Given the description of an element on the screen output the (x, y) to click on. 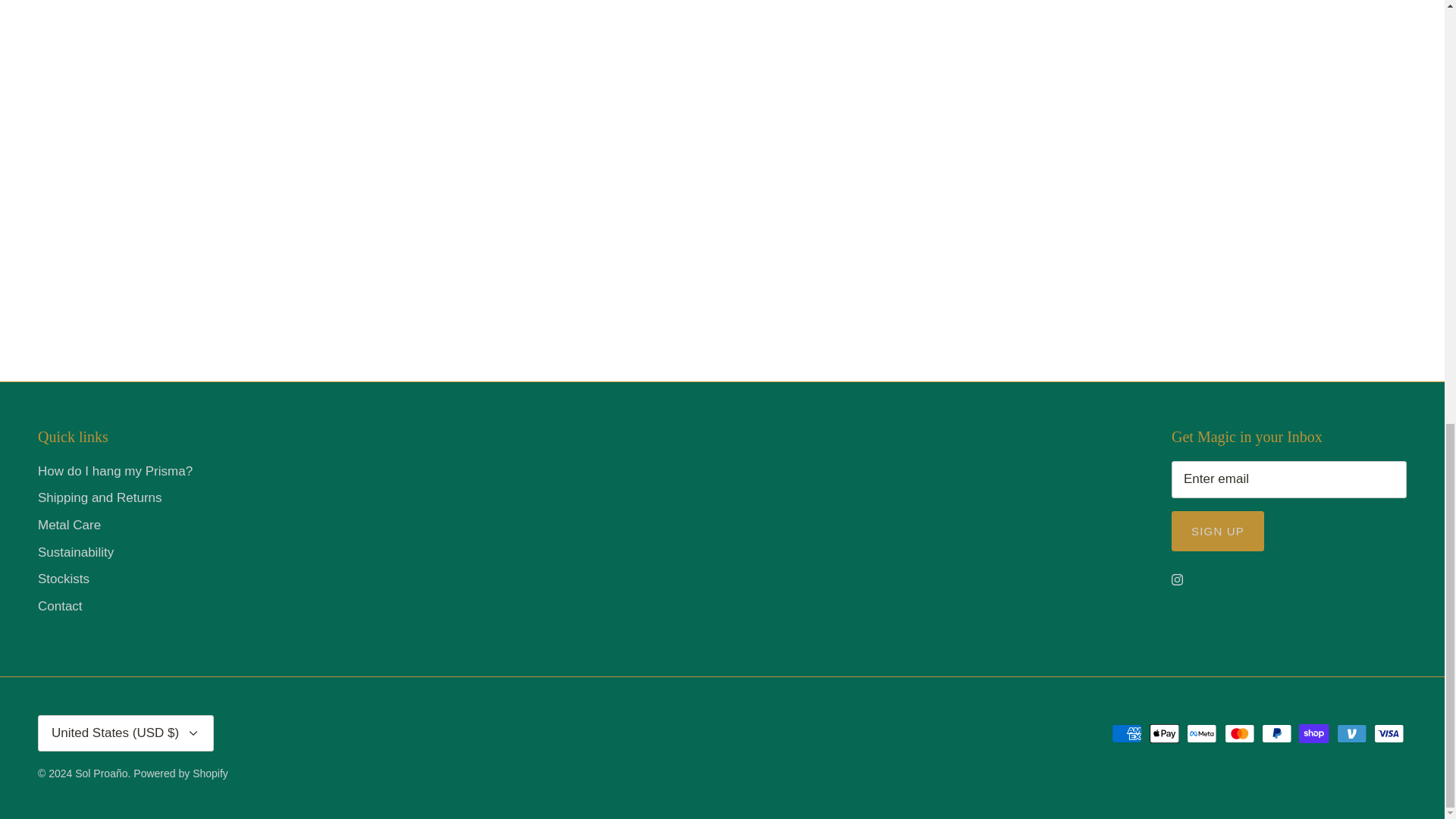
Mastercard (1239, 732)
Down (193, 733)
Meta Pay (1201, 732)
Visa (1388, 732)
Venmo (1351, 732)
Shop Pay (1313, 732)
Apple Pay (1164, 732)
PayPal (1276, 732)
Instagram (1177, 579)
American Express (1126, 732)
